Given the description of an element on the screen output the (x, y) to click on. 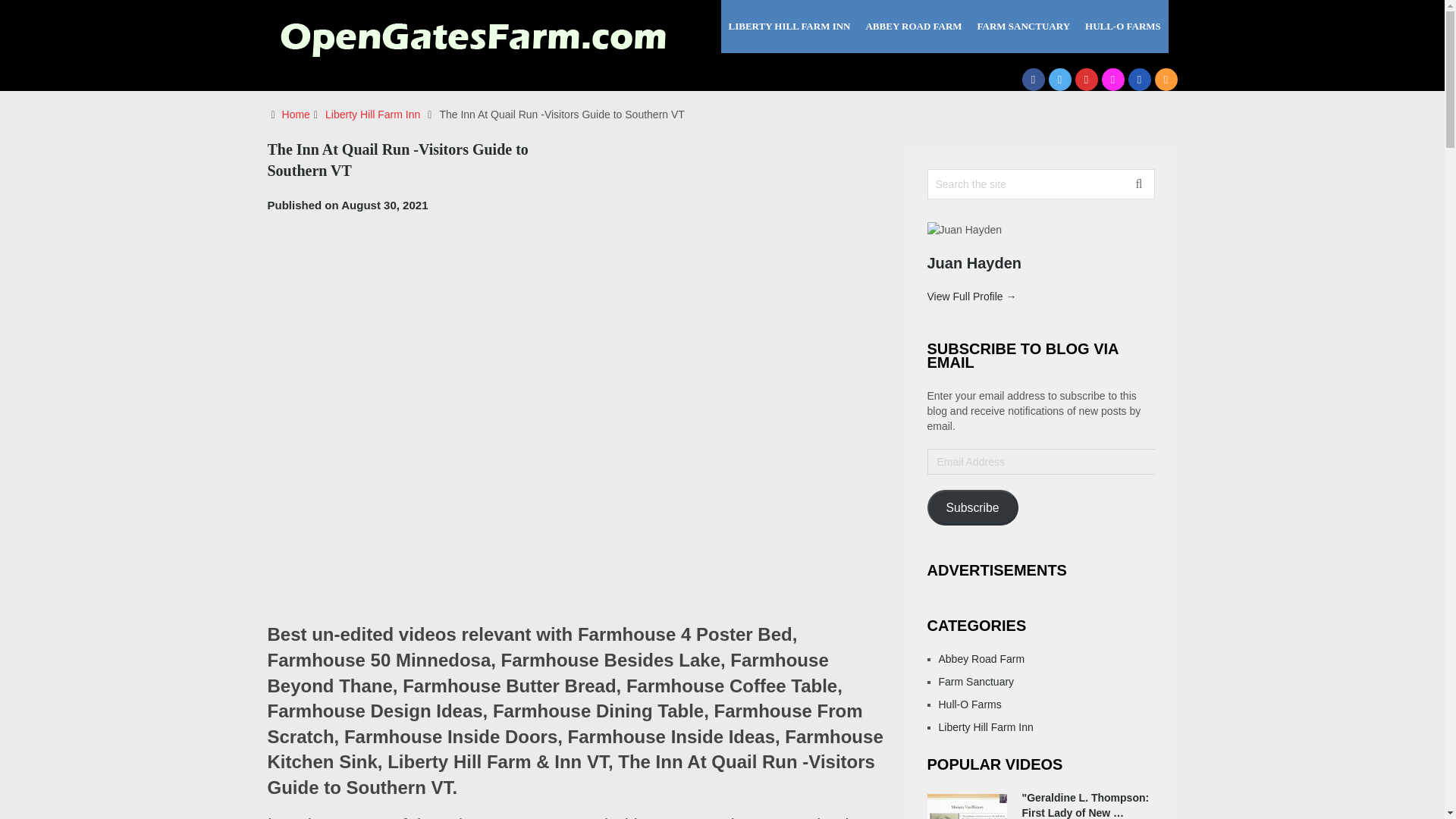
ABBEY ROAD FARM (913, 26)
FARM SANCTUARY (1023, 26)
HULL-O FARMS (1123, 26)
Liberty Hill Farm Inn (372, 114)
Home (296, 114)
LIBERTY HILL FARM INN (788, 26)
